Given the description of an element on the screen output the (x, y) to click on. 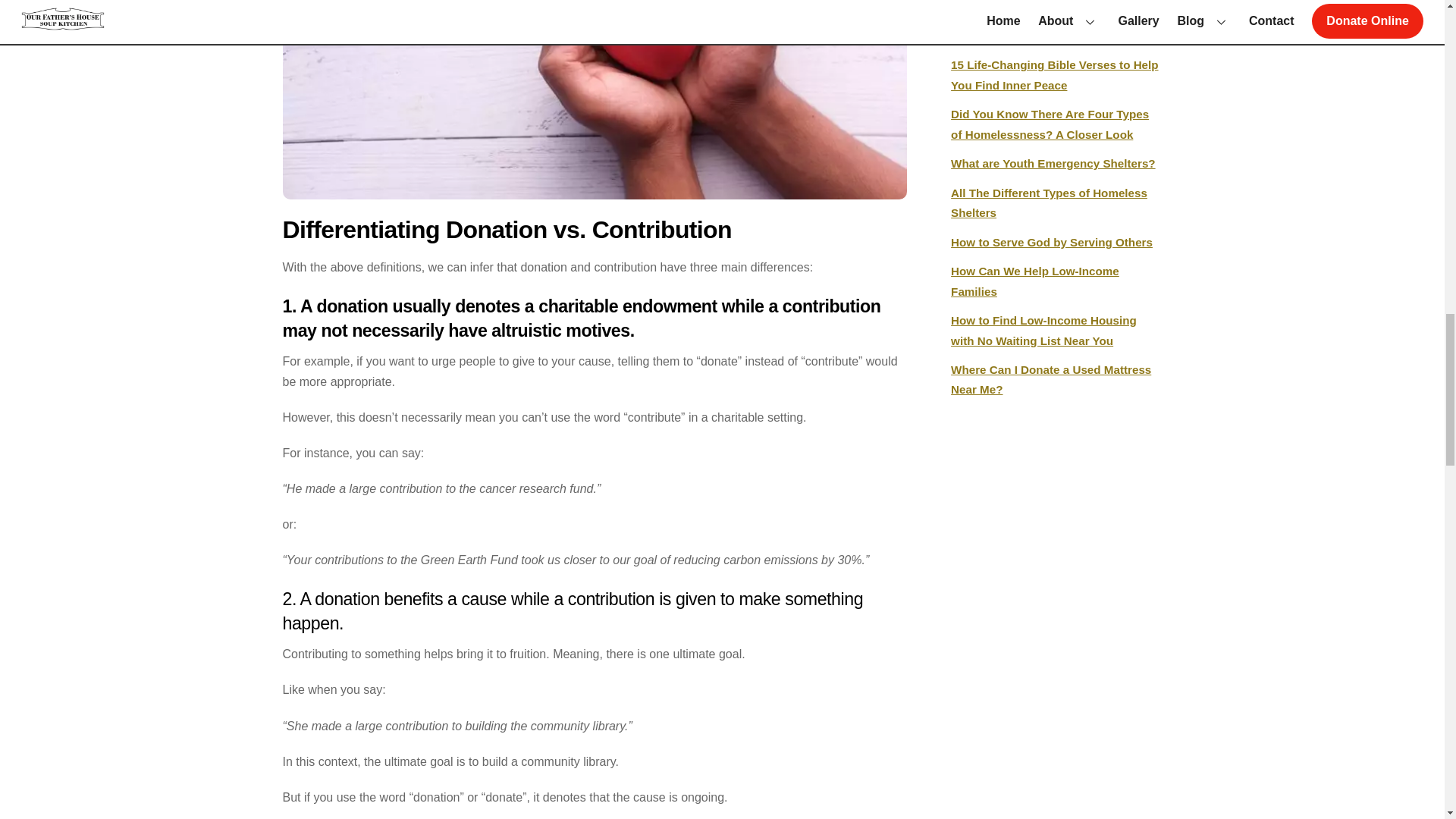
donation vs. contribution 2 (594, 99)
